Given the description of an element on the screen output the (x, y) to click on. 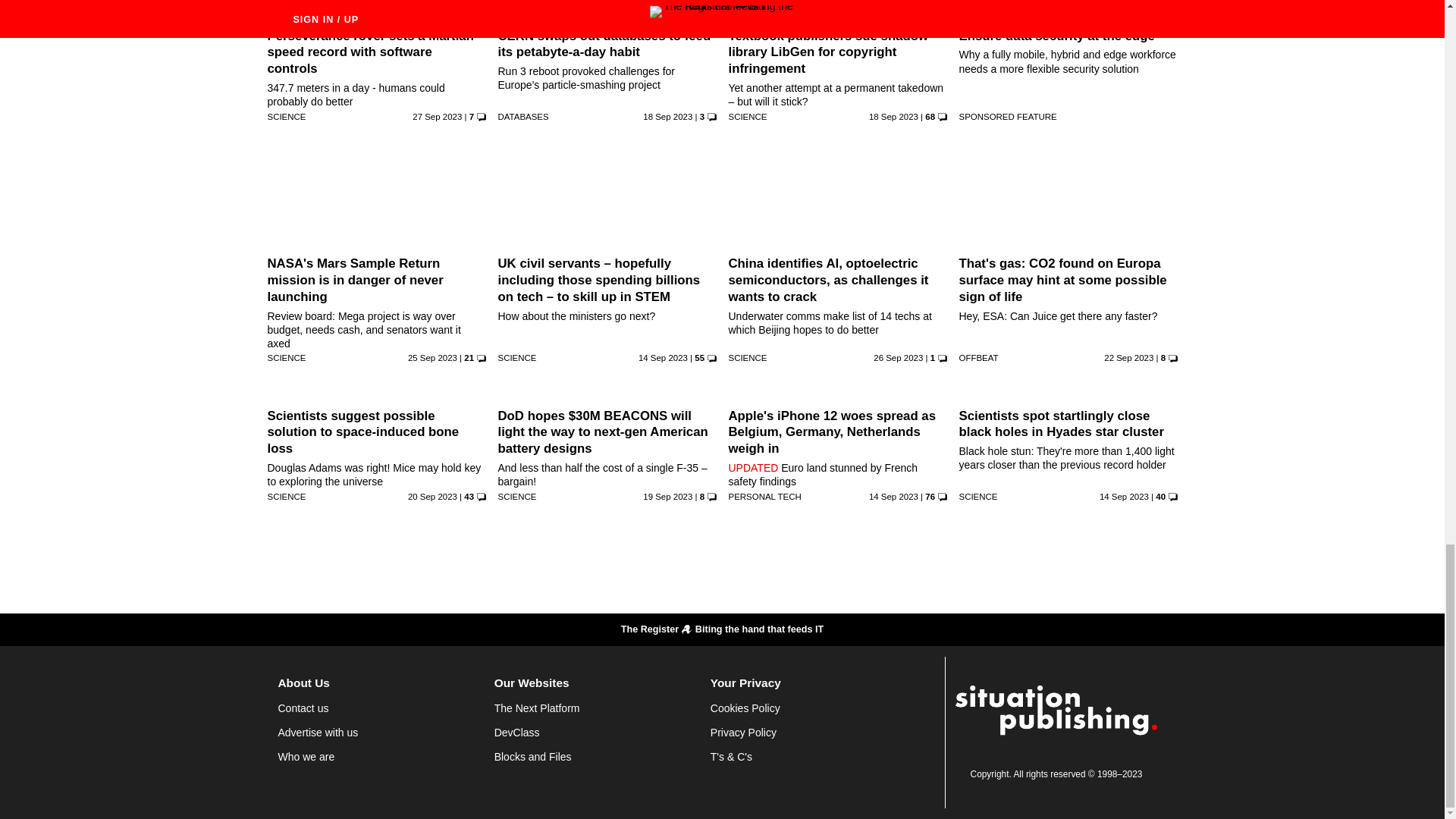
14 Sep 2023 11:1 (663, 357)
26 Sep 2023 4:45 (898, 357)
19 Sep 2023 21:31 (668, 496)
20 Sep 2023 8:33 (432, 496)
22 Sep 2023 18:45 (1128, 357)
25 Sep 2023 15:35 (432, 357)
18 Sep 2023 17:15 (893, 116)
27 Sep 2023 19:0 (436, 116)
18 Sep 2023 15:0 (668, 116)
